Given the description of an element on the screen output the (x, y) to click on. 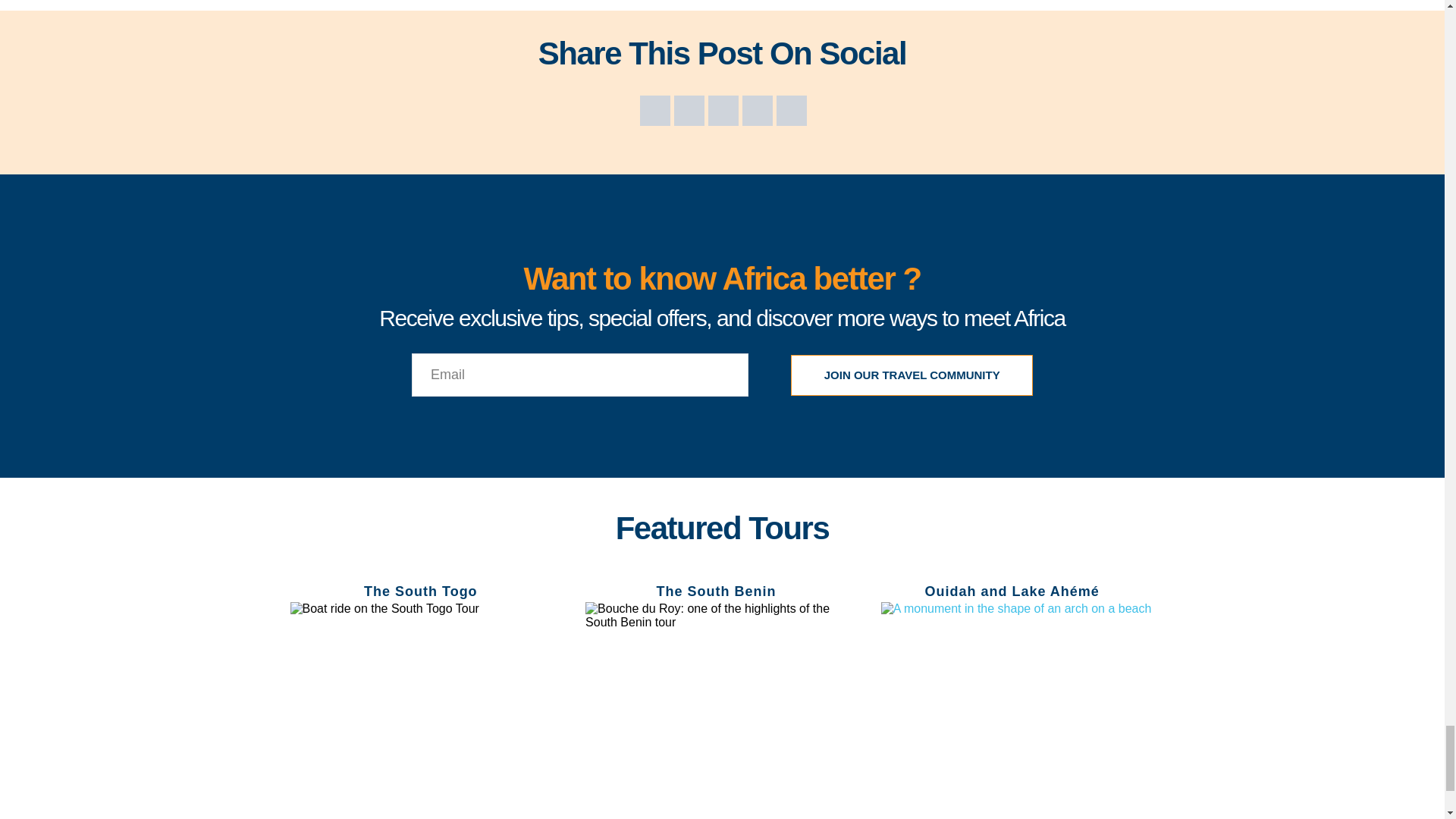
WhatsApp (791, 110)
Facebook (654, 110)
JOIN OUR TRAVEL COMMUNITY (911, 374)
The South Togo (420, 590)
LinkedIn (757, 110)
The South Benin (716, 590)
Twitter (689, 110)
